Given the description of an element on the screen output the (x, y) to click on. 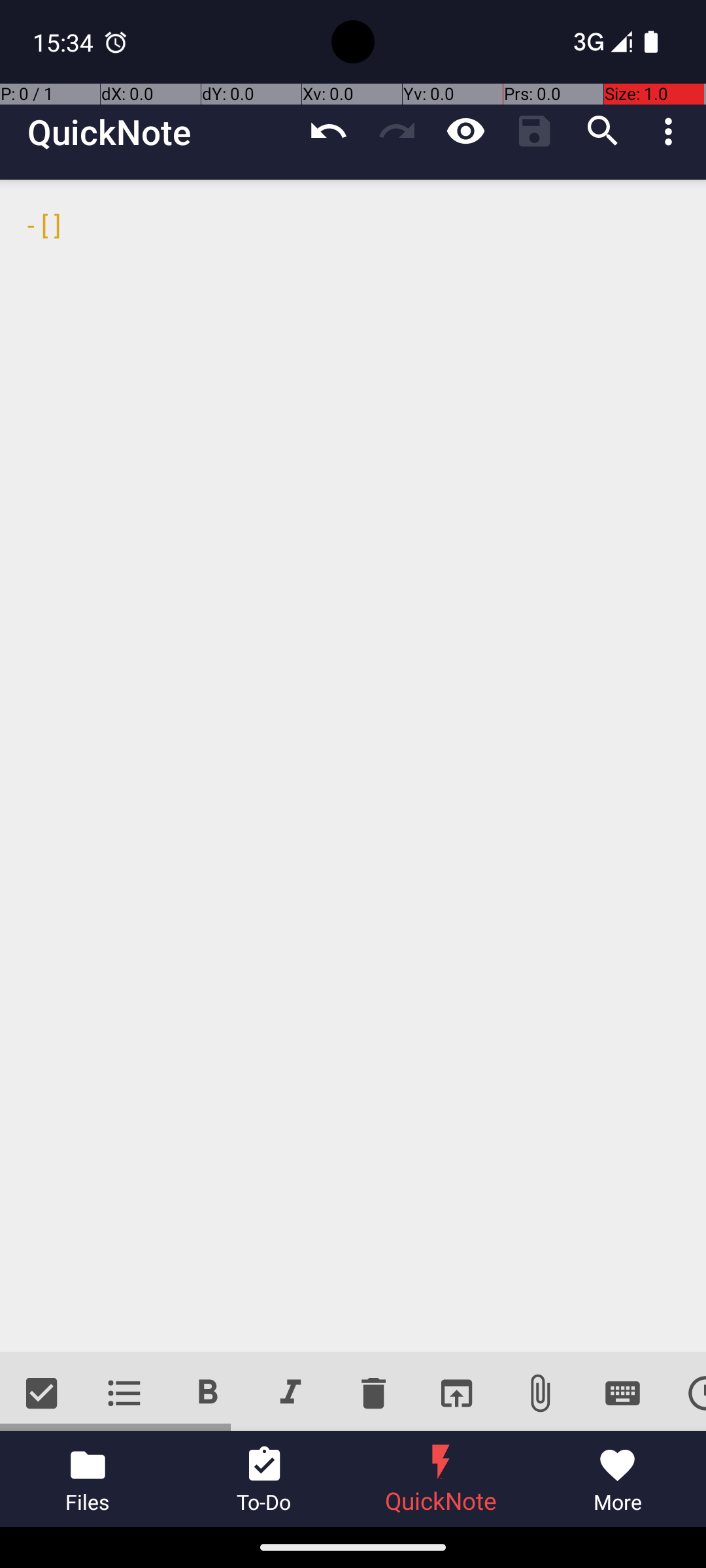
- [ ]  Element type: android.widget.EditText (353, 765)
